Given the description of an element on the screen output the (x, y) to click on. 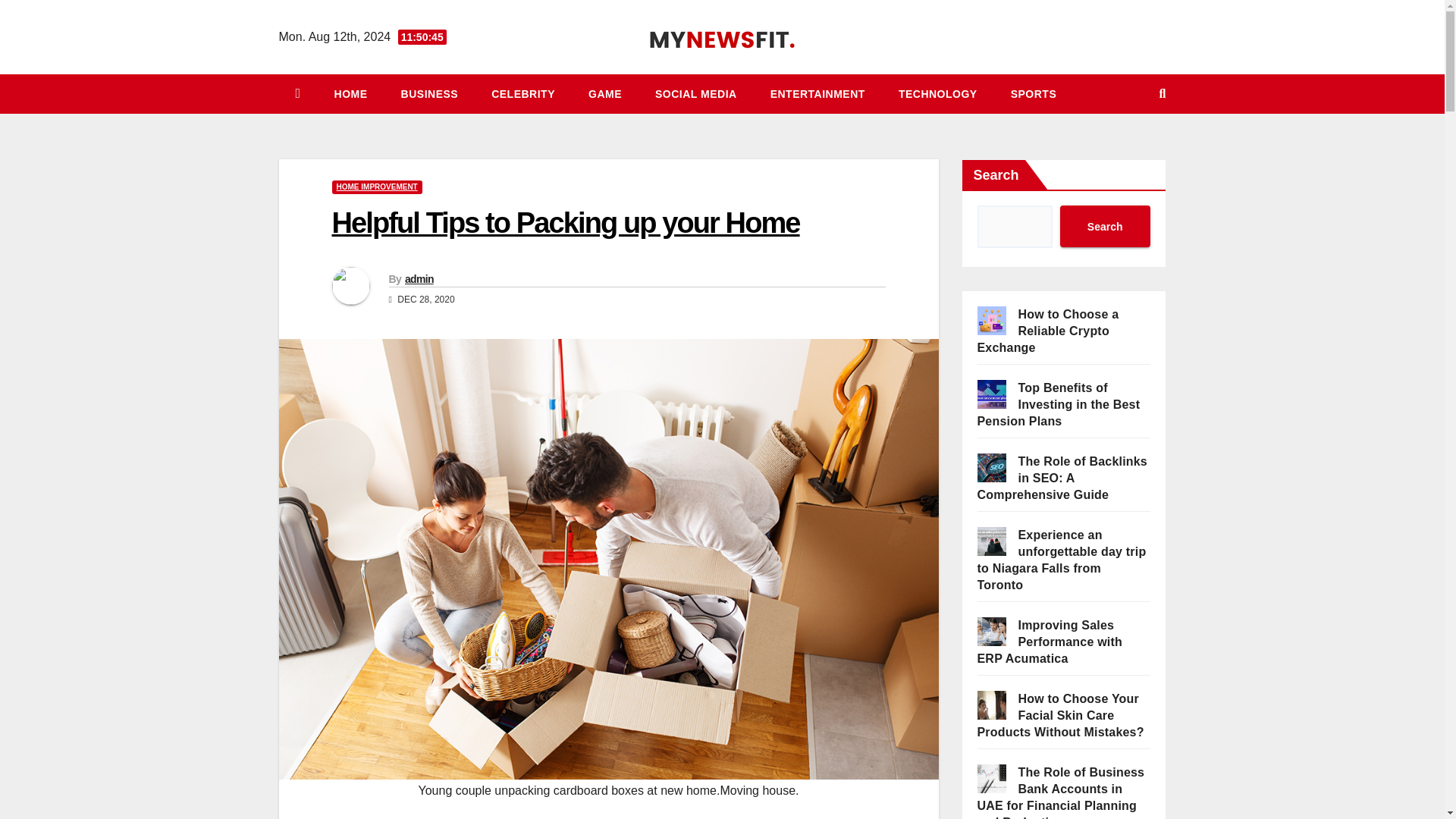
Game (605, 93)
Technology (938, 93)
Entertainment (818, 93)
Social Media (696, 93)
Home (350, 93)
Sports (1034, 93)
CELEBRITY (523, 93)
HOME IMPROVEMENT (376, 187)
Celebrity (523, 93)
admin (418, 278)
